Given the description of an element on the screen output the (x, y) to click on. 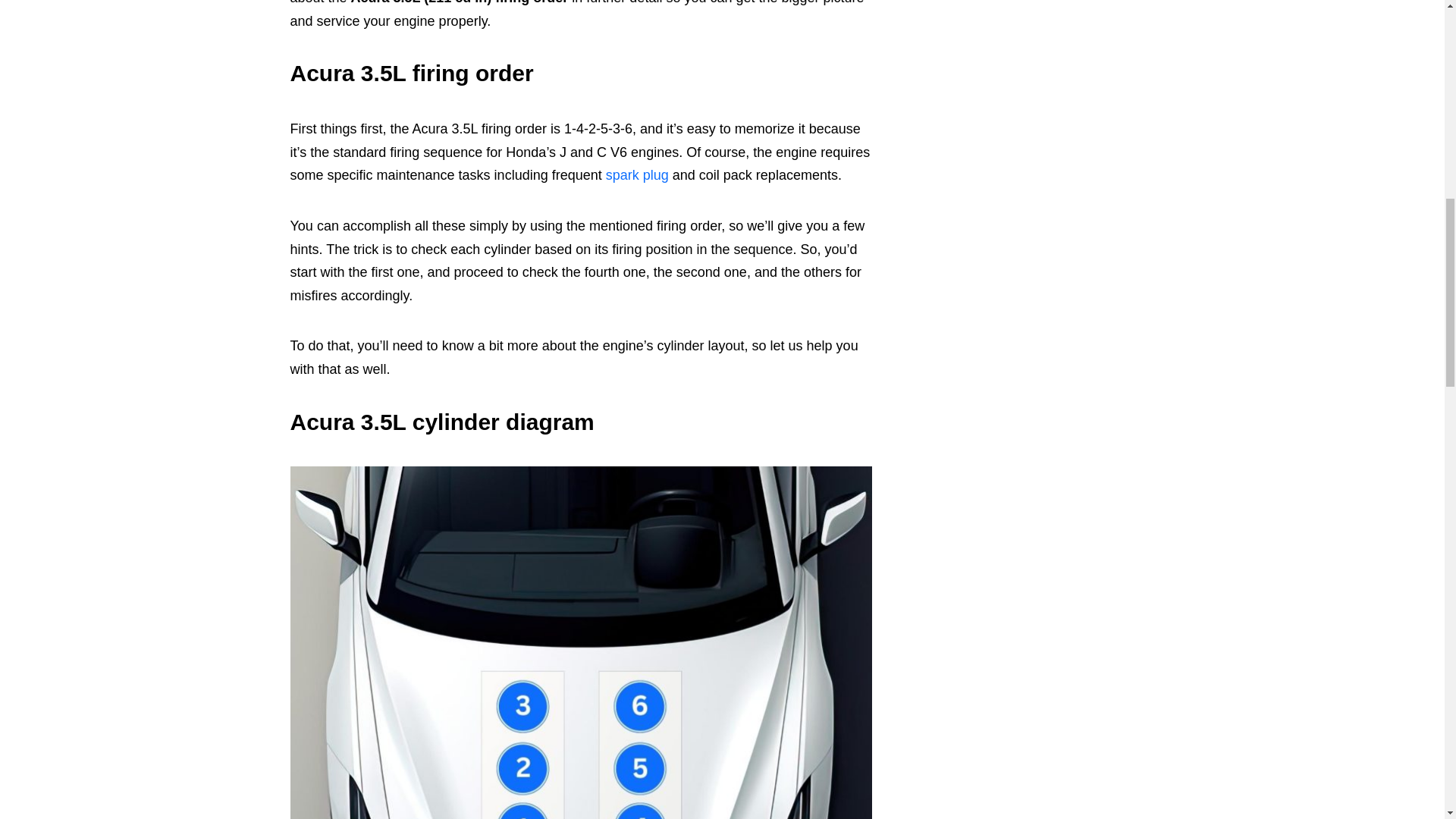
spark plug (636, 174)
